Given the description of an element on the screen output the (x, y) to click on. 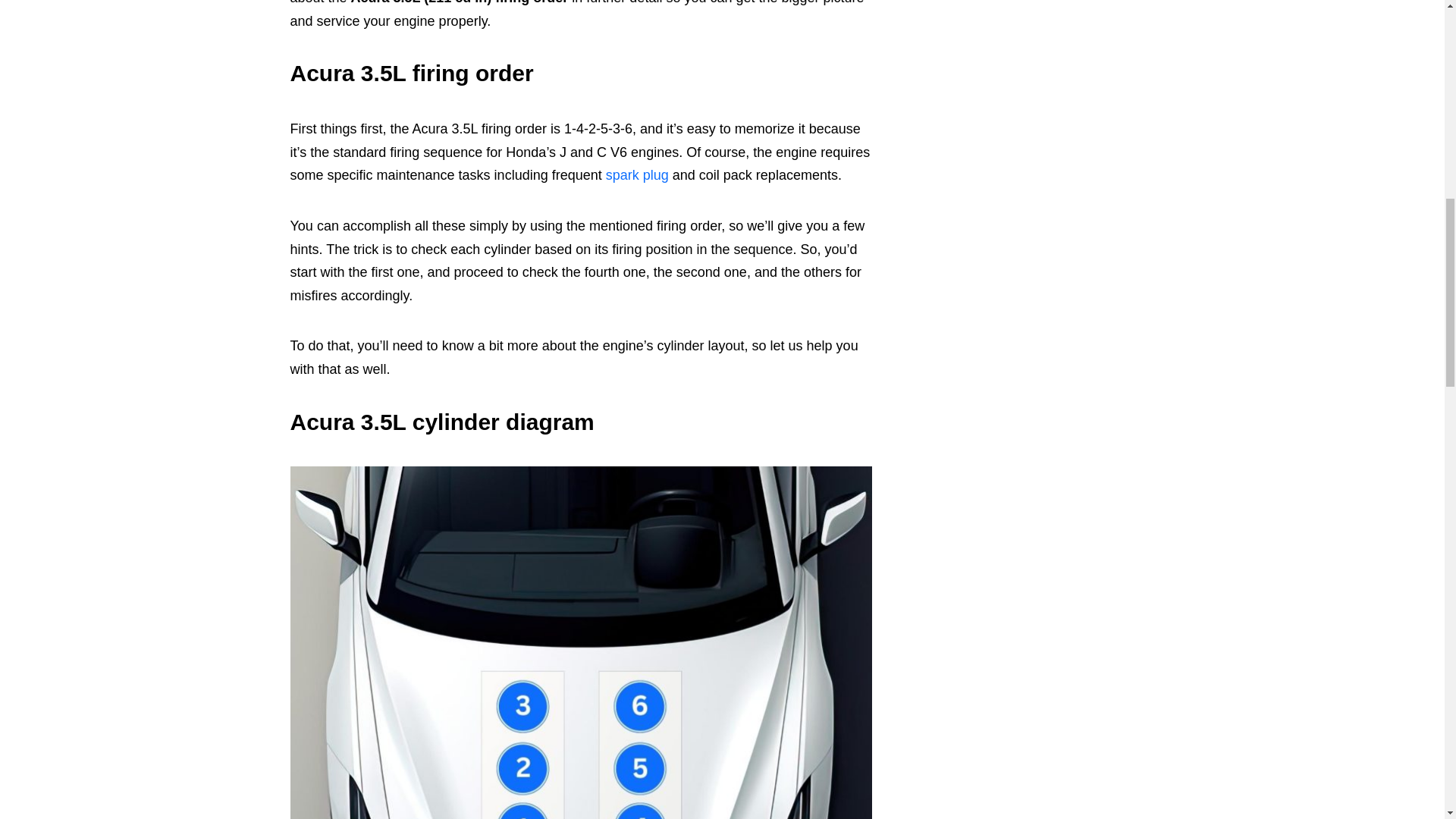
spark plug (636, 174)
